Given the description of an element on the screen output the (x, y) to click on. 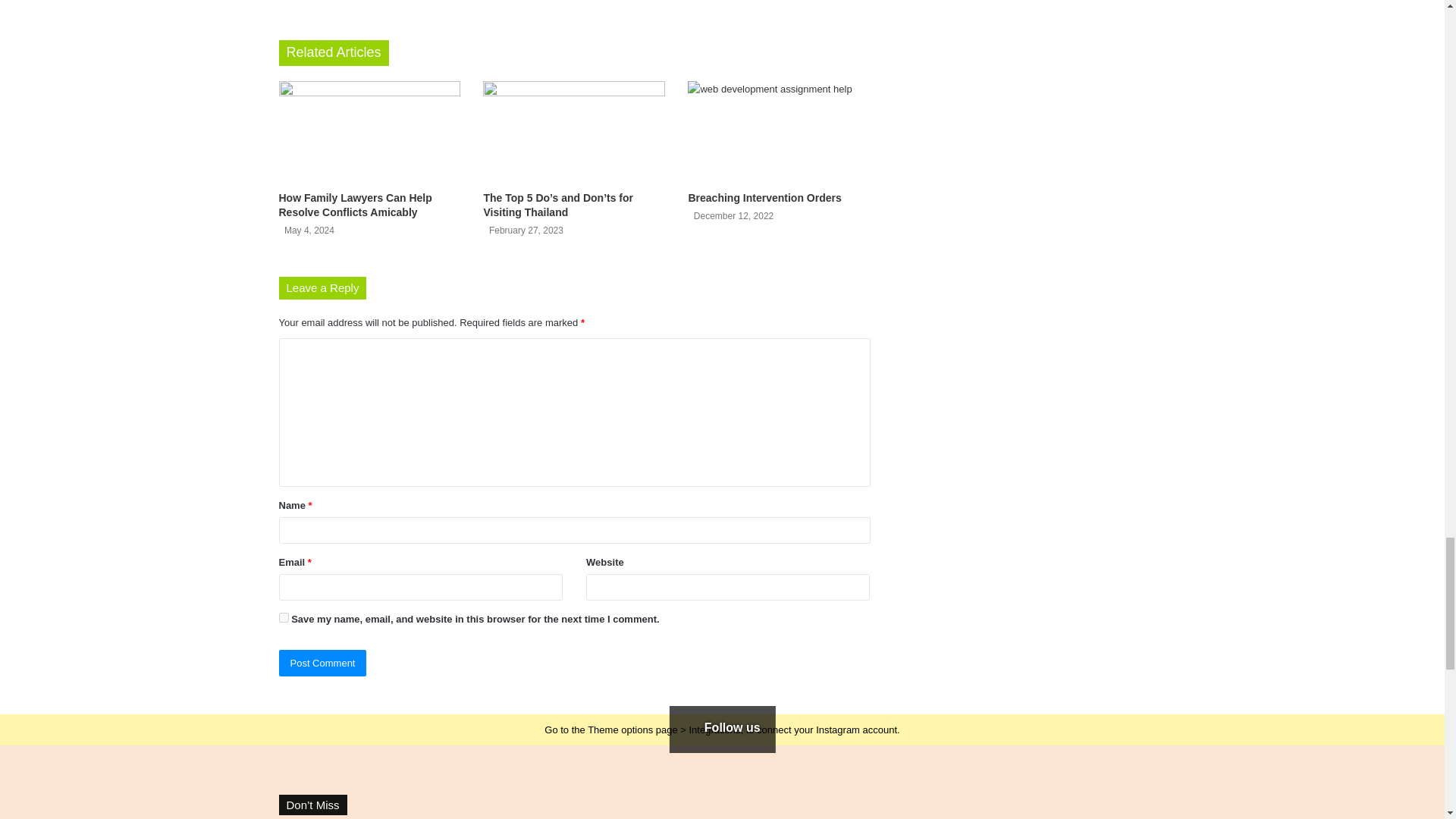
Post Comment (322, 663)
yes (283, 617)
